Given the description of an element on the screen output the (x, y) to click on. 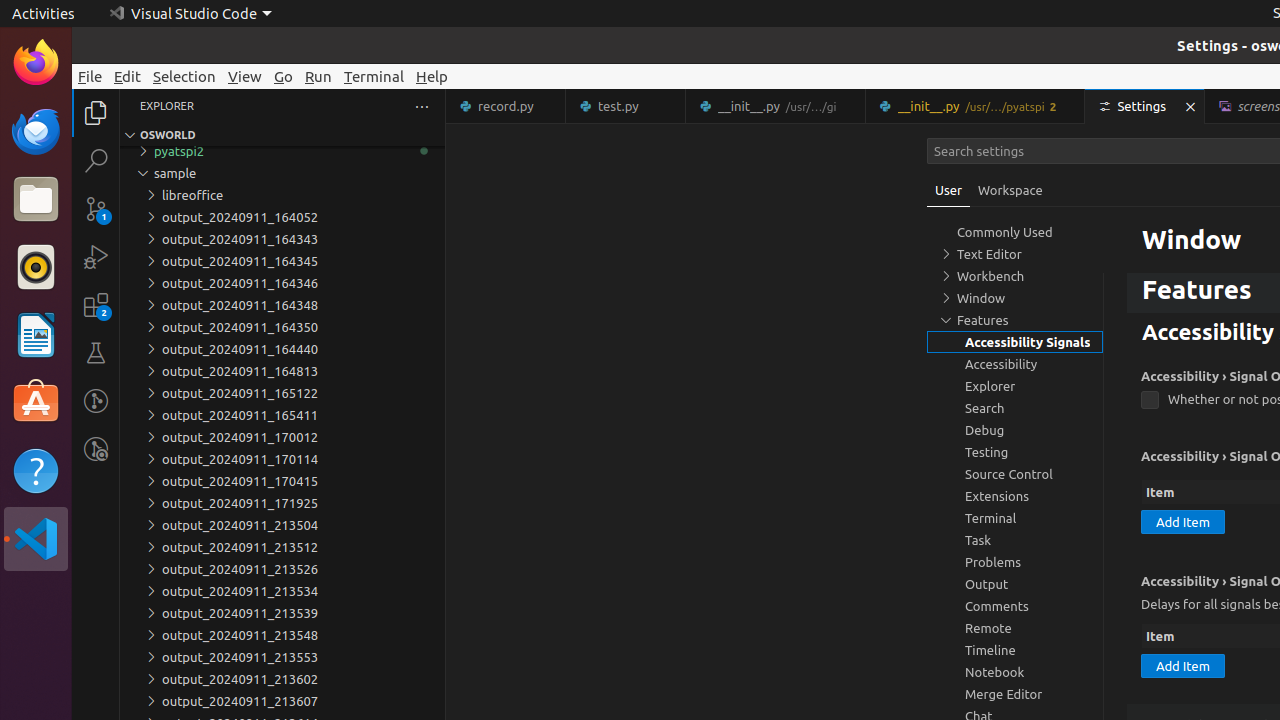
output_20240911_170012 Element type: tree-item (282, 437)
Go Element type: push-button (283, 76)
output_20240911_164345 Element type: tree-item (282, 261)
Settings Element type: page-tab (1145, 106)
output_20240911_213512 Element type: tree-item (282, 547)
